Given the description of an element on the screen output the (x, y) to click on. 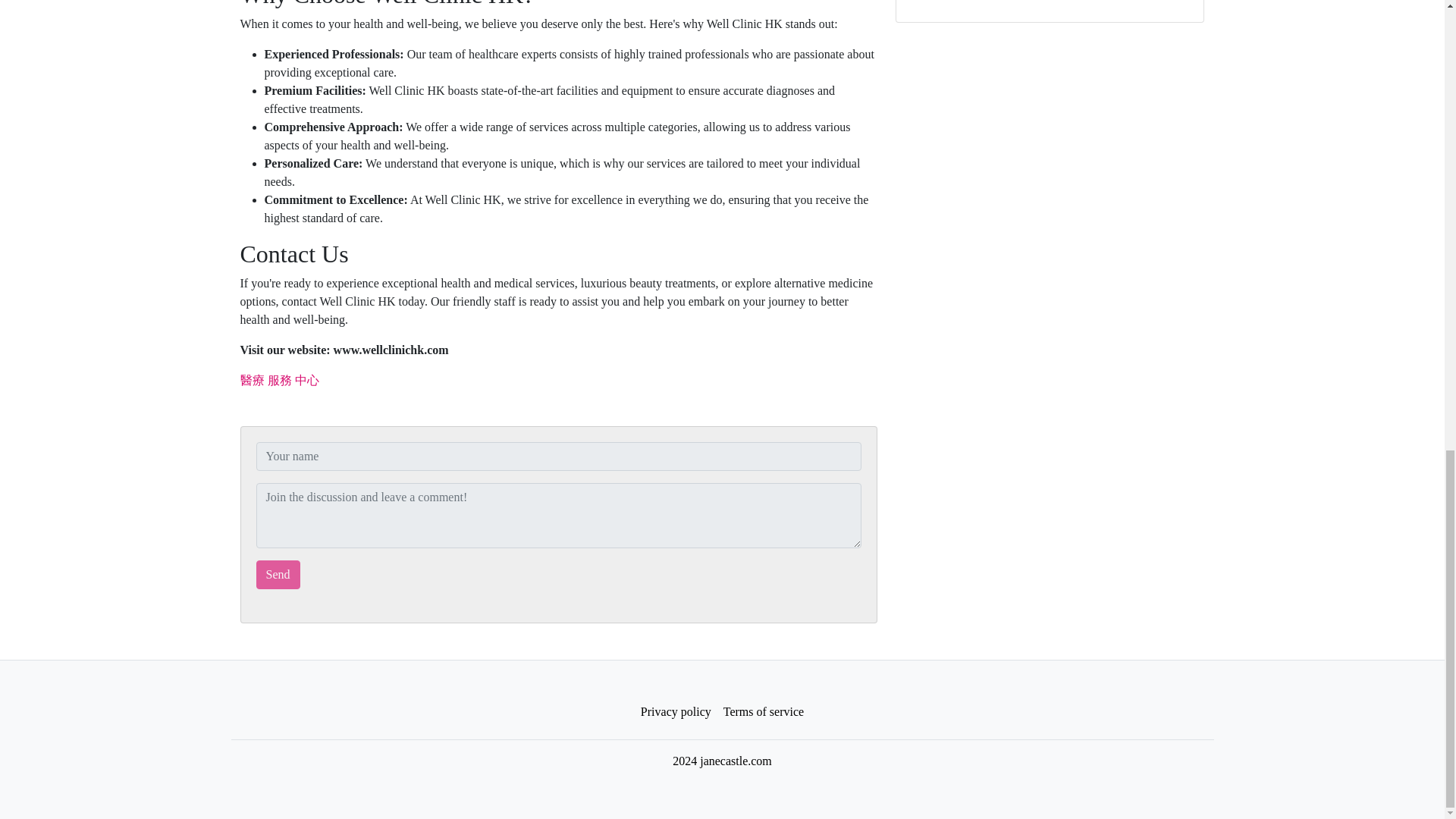
Send (277, 574)
Terms of service (763, 711)
Send (277, 574)
Privacy policy (675, 711)
